Given the description of an element on the screen output the (x, y) to click on. 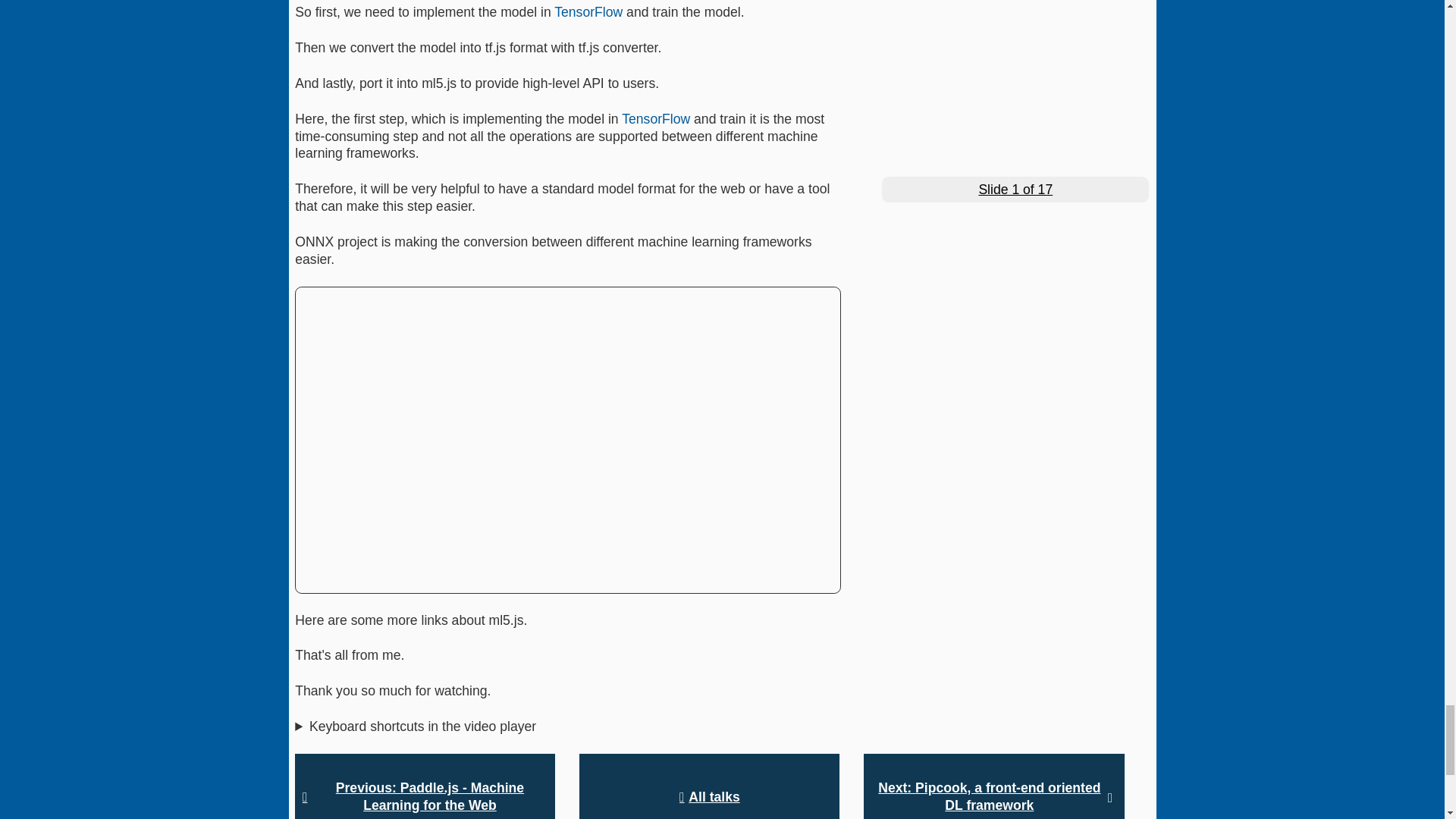
TensorFlow (588, 11)
TensorFlow (655, 118)
All talks (709, 786)
Previous: Paddle.js - Machine Learning for the Web (424, 786)
